Given the description of an element on the screen output the (x, y) to click on. 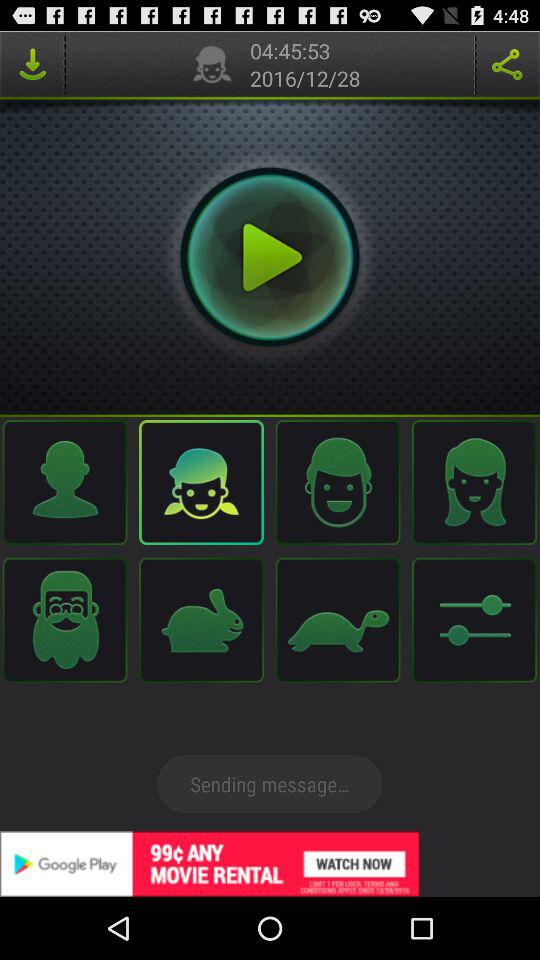
play button (270, 257)
